Given the description of an element on the screen output the (x, y) to click on. 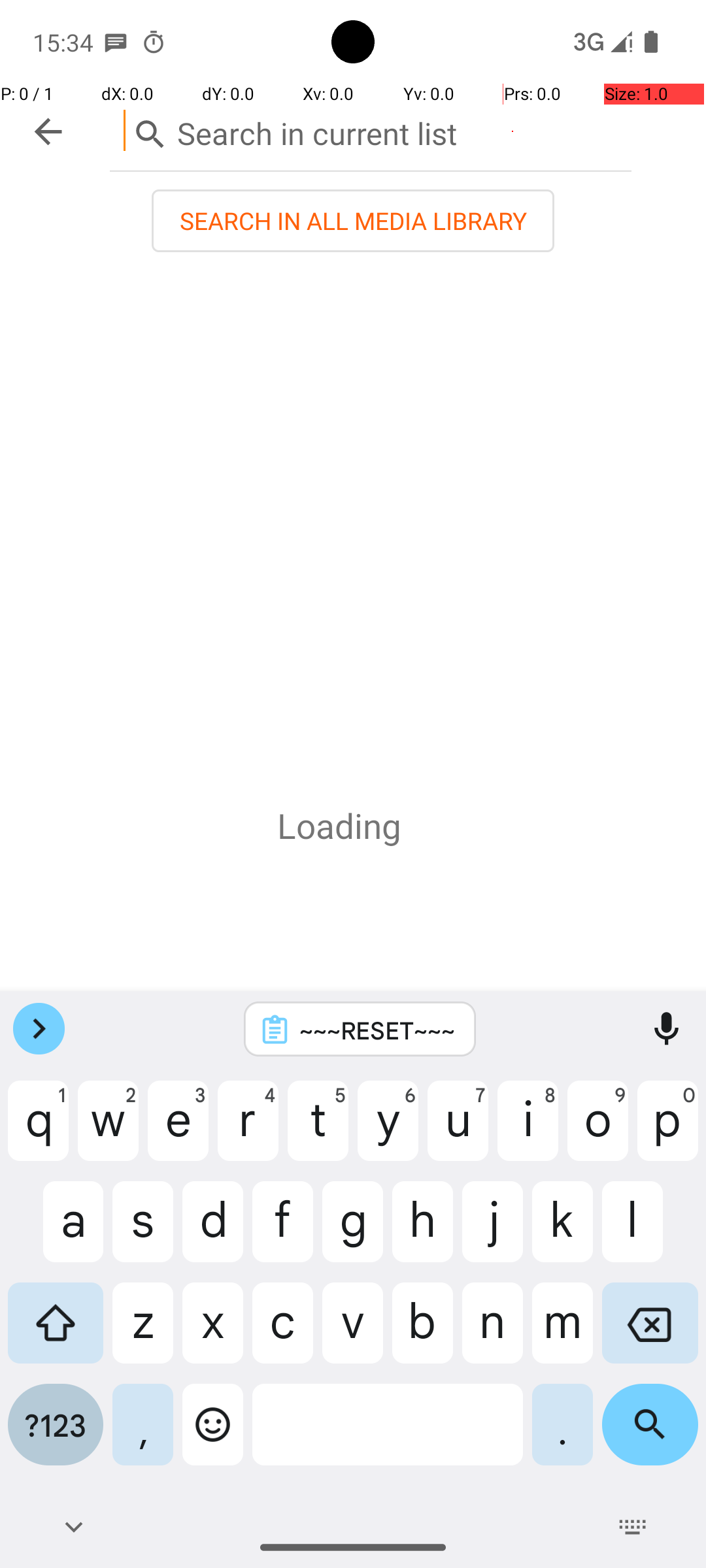
SEARCH IN ALL MEDIA LIBRARY Element type: android.widget.Button (352, 220)
   Search in current list Element type: android.widget.AutoCompleteTextView (370, 130)
